Given the description of an element on the screen output the (x, y) to click on. 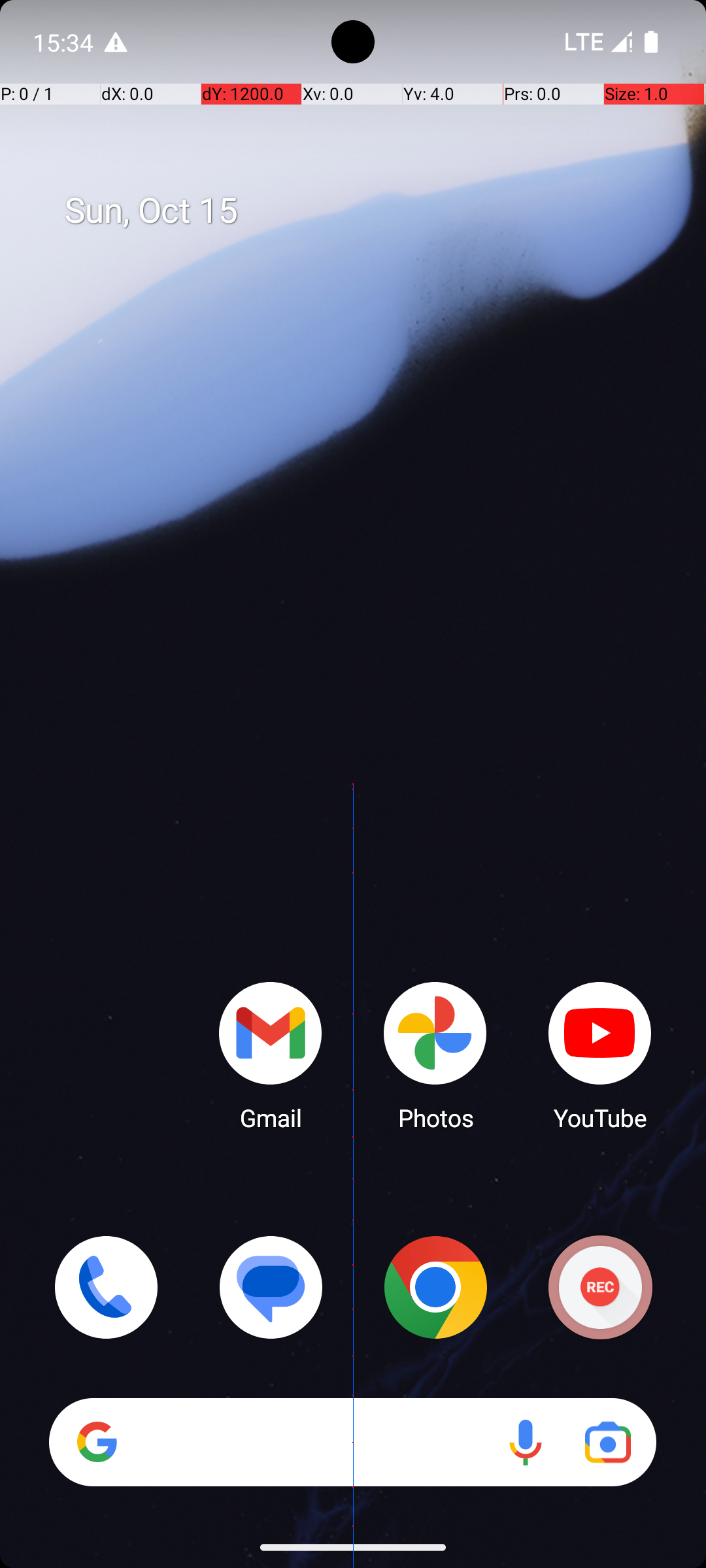
Home Element type: android.view.View (353, 804)
Phone Element type: android.widget.TextView (105, 1287)
Messages Element type: android.widget.TextView (270, 1287)
Chrome Element type: android.widget.TextView (435, 1287)
Search Element type: android.widget.FrameLayout (352, 1442)
Sun, Oct 15 Element type: android.widget.TextView (366, 210)
Gmail Element type: android.widget.TextView (270, 1054)
Photos Element type: android.widget.TextView (435, 1054)
YouTube Element type: android.widget.TextView (599, 1054)
Google app Element type: android.widget.ImageView (97, 1441)
Voice search Element type: android.widget.ImageView (525, 1442)
Google Lens Element type: android.widget.ImageButton (607, 1442)
